Given the description of an element on the screen output the (x, y) to click on. 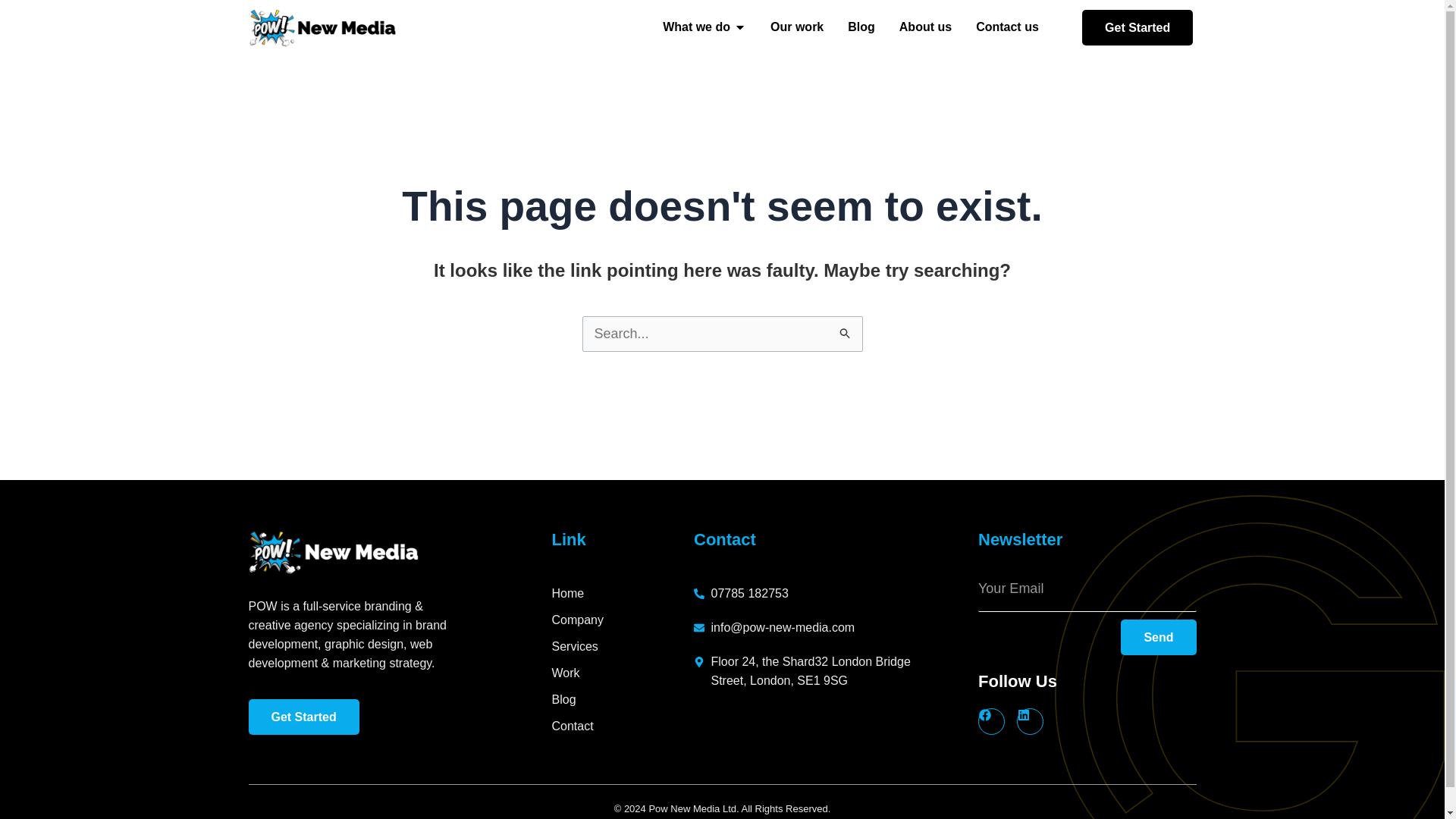
Work (622, 672)
Blog (622, 699)
07785 182753 (807, 592)
Services (622, 646)
About us (925, 27)
Get Started (1136, 27)
Blog (861, 27)
Get Started (303, 716)
Home (622, 592)
Contact (622, 725)
Open What we do (739, 27)
Our work (797, 27)
Search (844, 335)
What we do (696, 27)
Contact us (1007, 27)
